Given the description of an element on the screen output the (x, y) to click on. 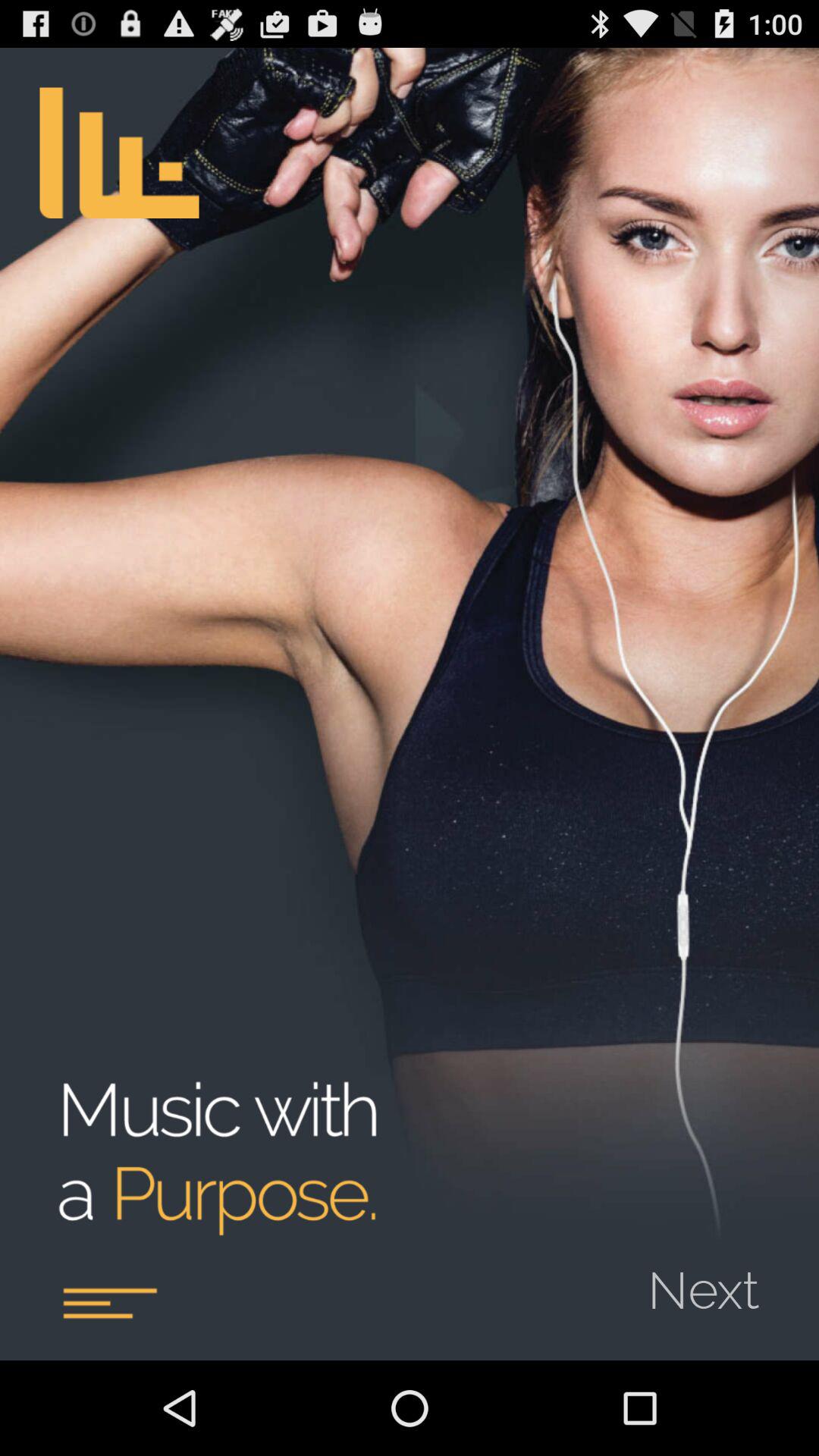
jump to the next (713, 1280)
